Given the description of an element on the screen output the (x, y) to click on. 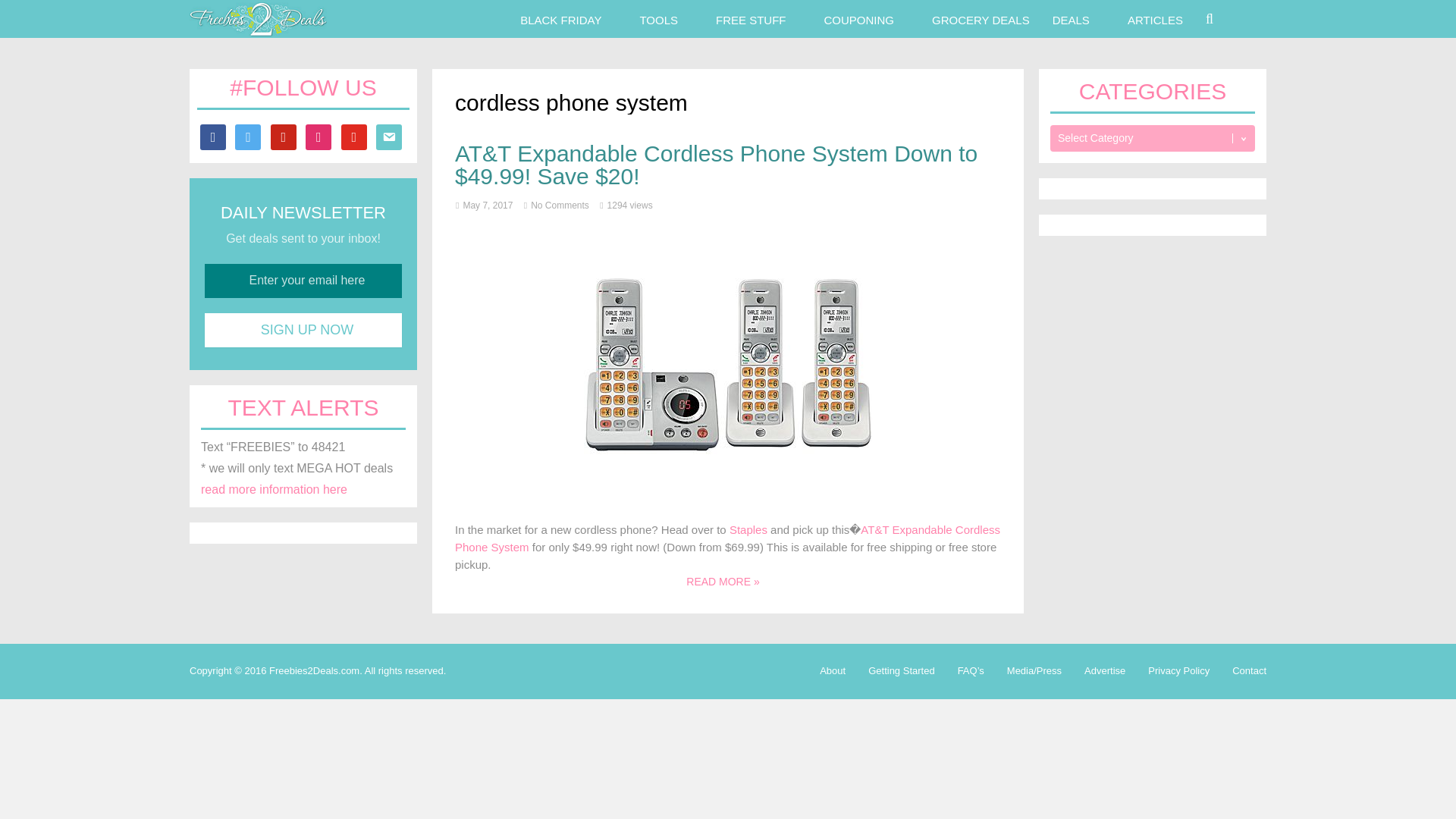
Friend me on Facebook (212, 135)
Follow Me (247, 135)
TOOLS (658, 18)
BLACK FRIDAY (560, 18)
Freebies2Deals (257, 32)
Instagram (318, 135)
Sign Up Now (303, 329)
